Given the description of an element on the screen output the (x, y) to click on. 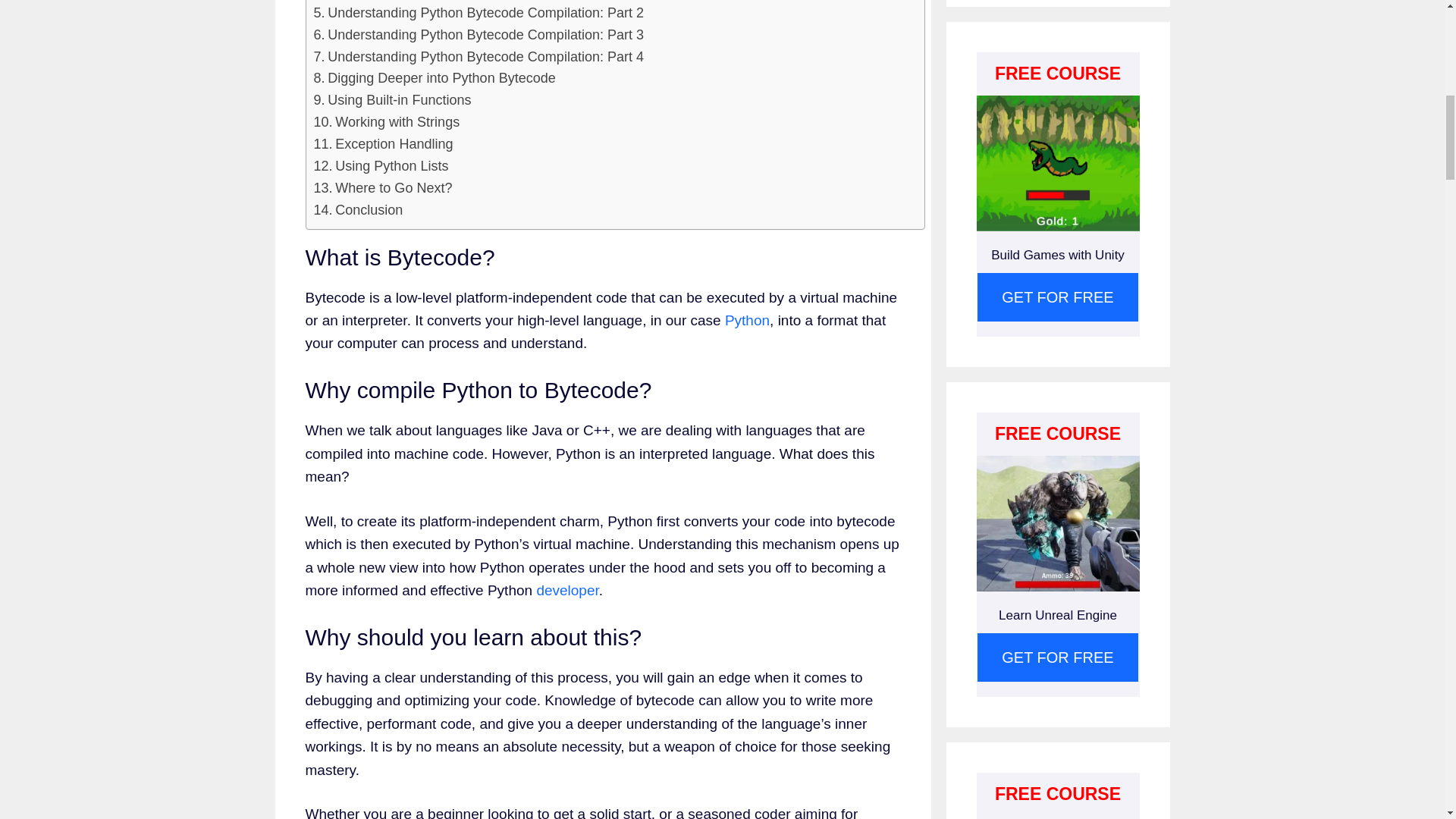
Working with Strings (387, 122)
Exception Handling (383, 144)
Understanding Python Bytecode Compilation: Part 2 (479, 13)
Using Built-in Functions (392, 100)
Digging Deeper into Python Bytecode (435, 78)
Understanding Python Bytecode Compilation: Part 3 (479, 34)
Using Python Lists (381, 166)
Understanding Python Bytecode Compilation: Part 4 (479, 56)
